Given the description of an element on the screen output the (x, y) to click on. 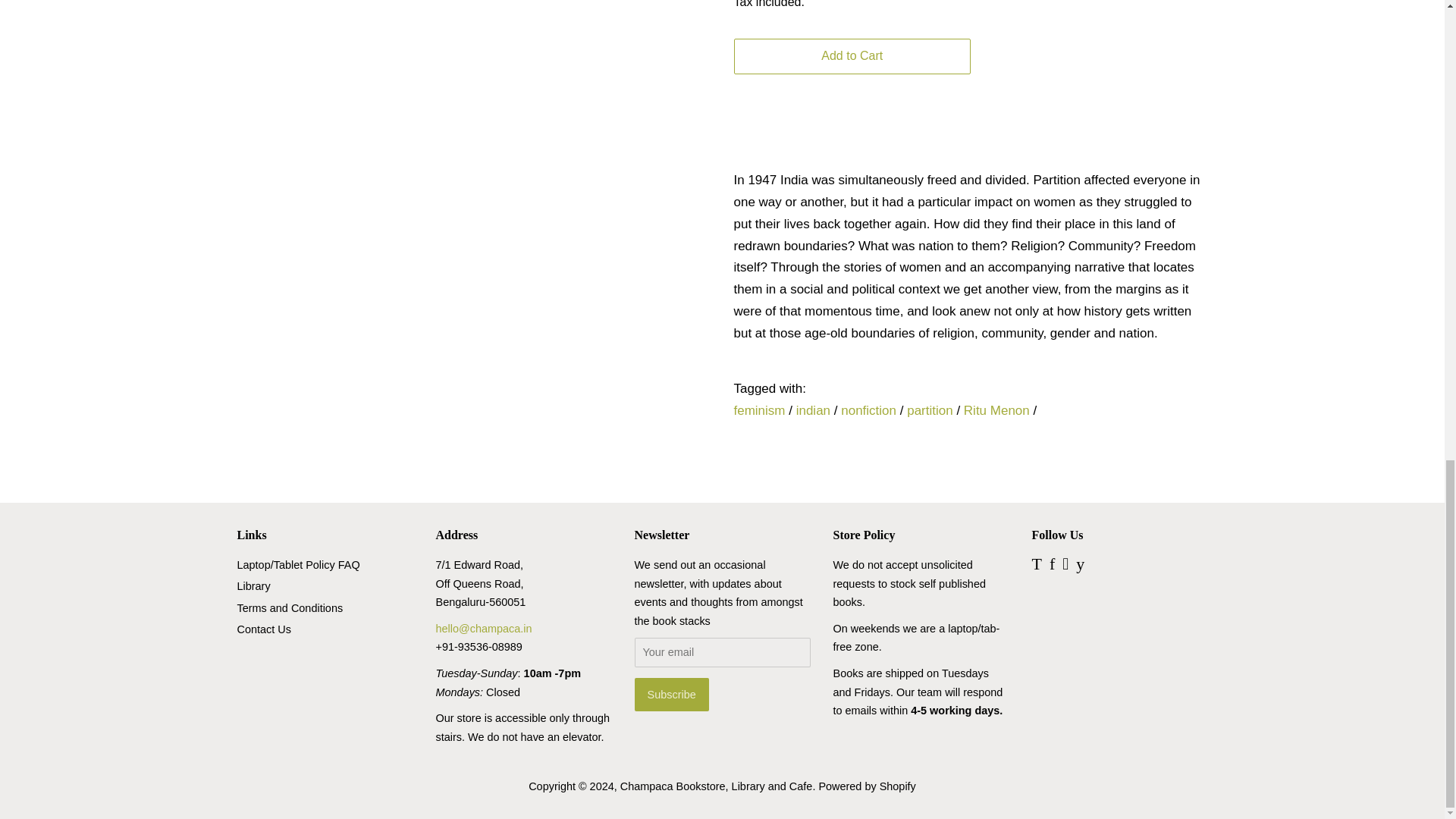
Subscribe (670, 694)
